Given the description of an element on the screen output the (x, y) to click on. 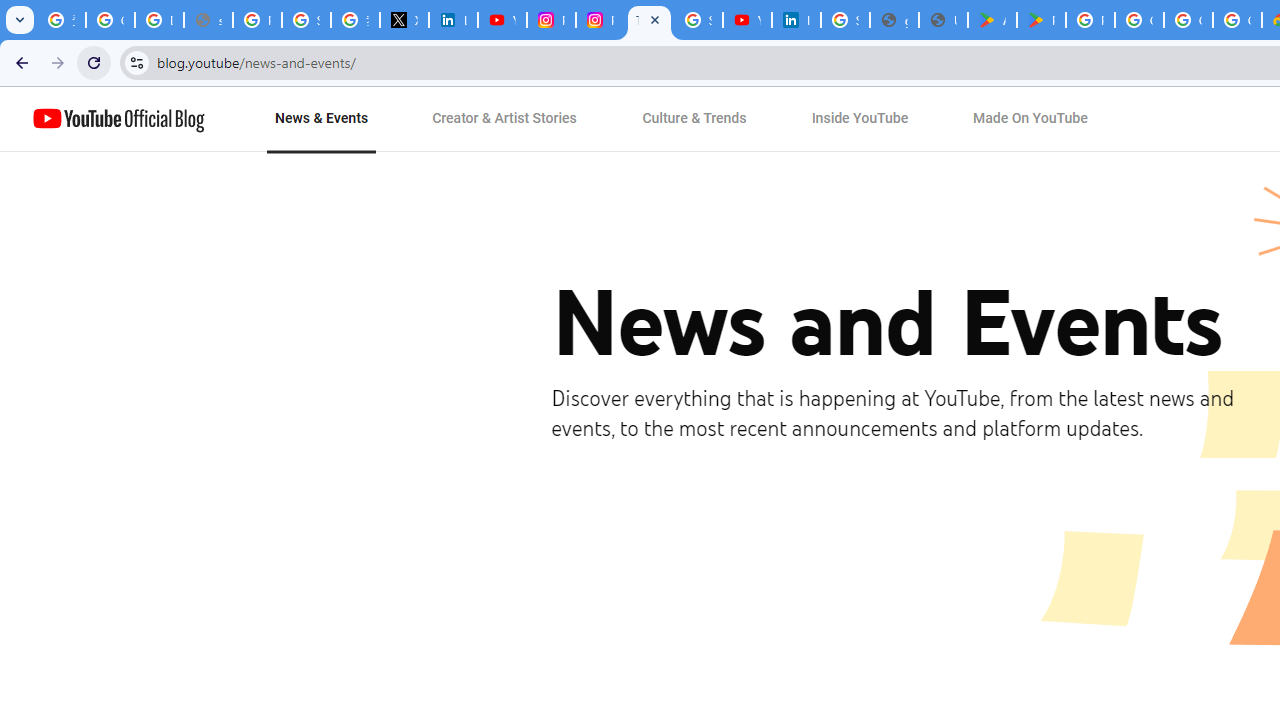
Sign in - Google Accounts (698, 20)
User Details (943, 20)
YouTube Official Blog logo (118, 119)
